Given the description of an element on the screen output the (x, y) to click on. 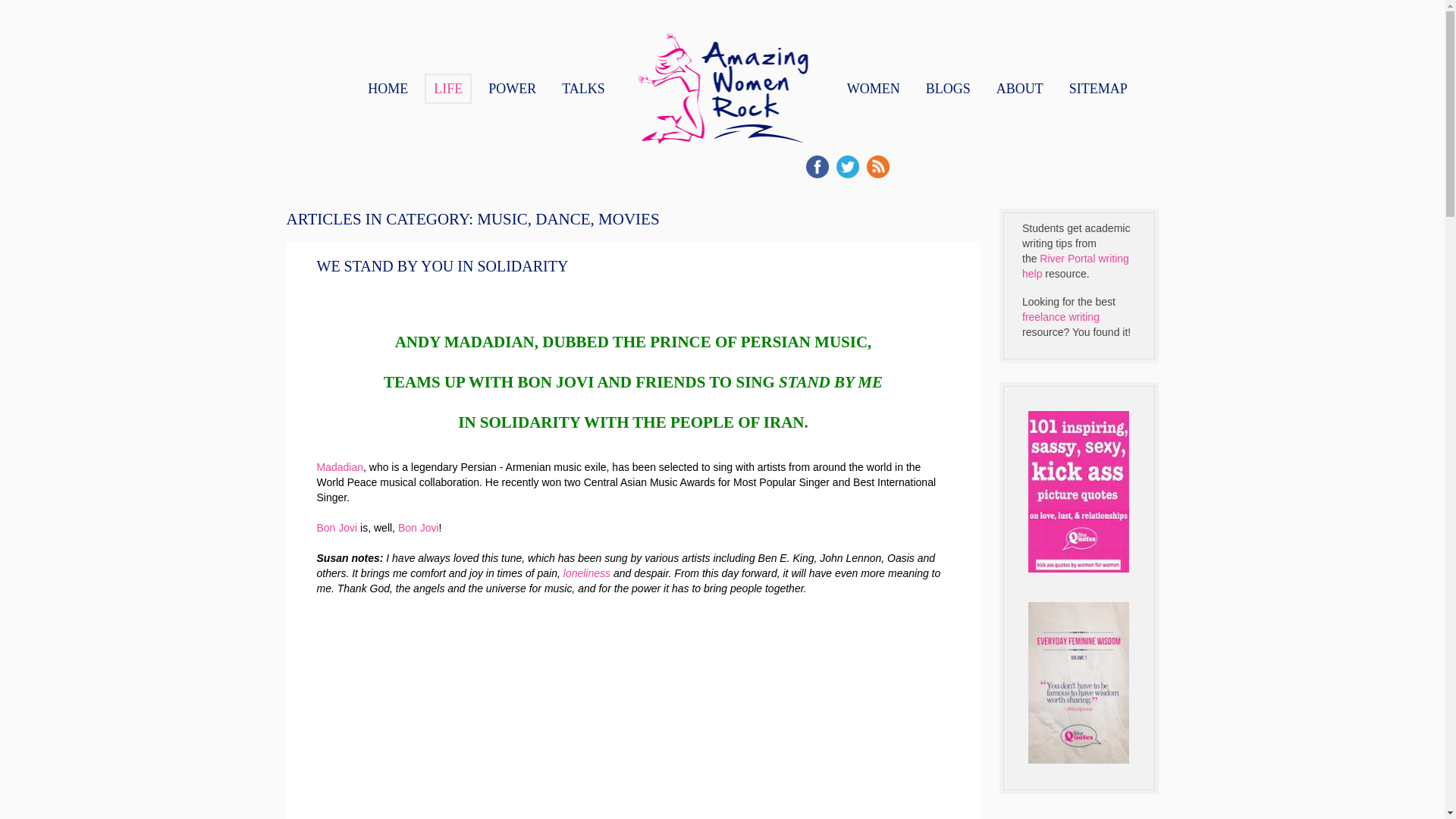
WOMEN (873, 88)
POWER (511, 88)
We Stand By You In Solidarity (443, 265)
TALKS (583, 88)
ABOUT (1019, 88)
WE STAND BY YOU IN SOLIDARITY (443, 265)
loneliness (586, 573)
HOME (387, 88)
Madadian (340, 467)
BLOGS (948, 88)
